Given the description of an element on the screen output the (x, y) to click on. 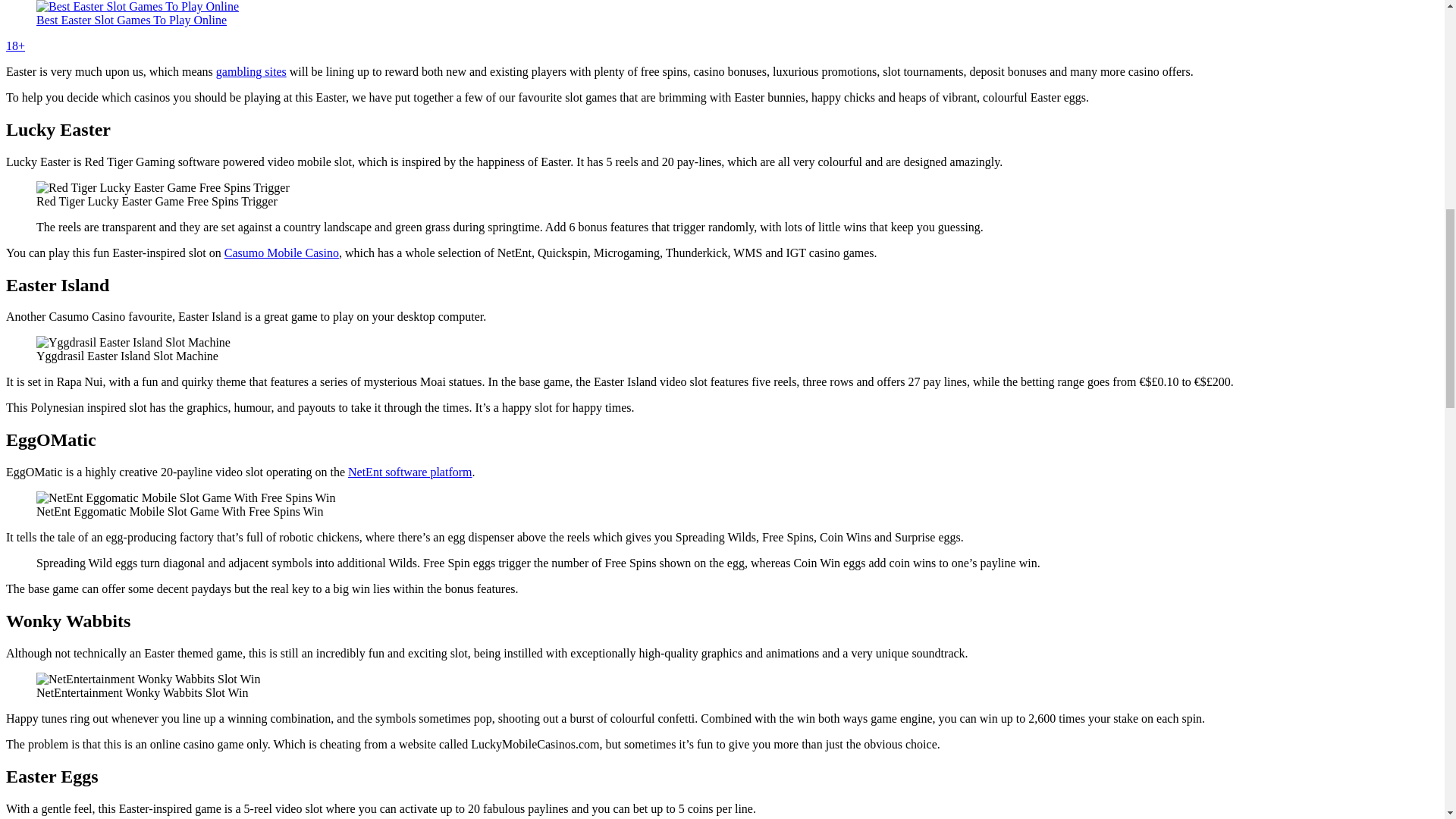
Mobile Gambling Site Reviews (250, 71)
NetEnt Software Provider (409, 472)
gambling sites (250, 71)
NetEnt software platform (409, 472)
Casumo Mobile Casino (281, 252)
